Given the description of an element on the screen output the (x, y) to click on. 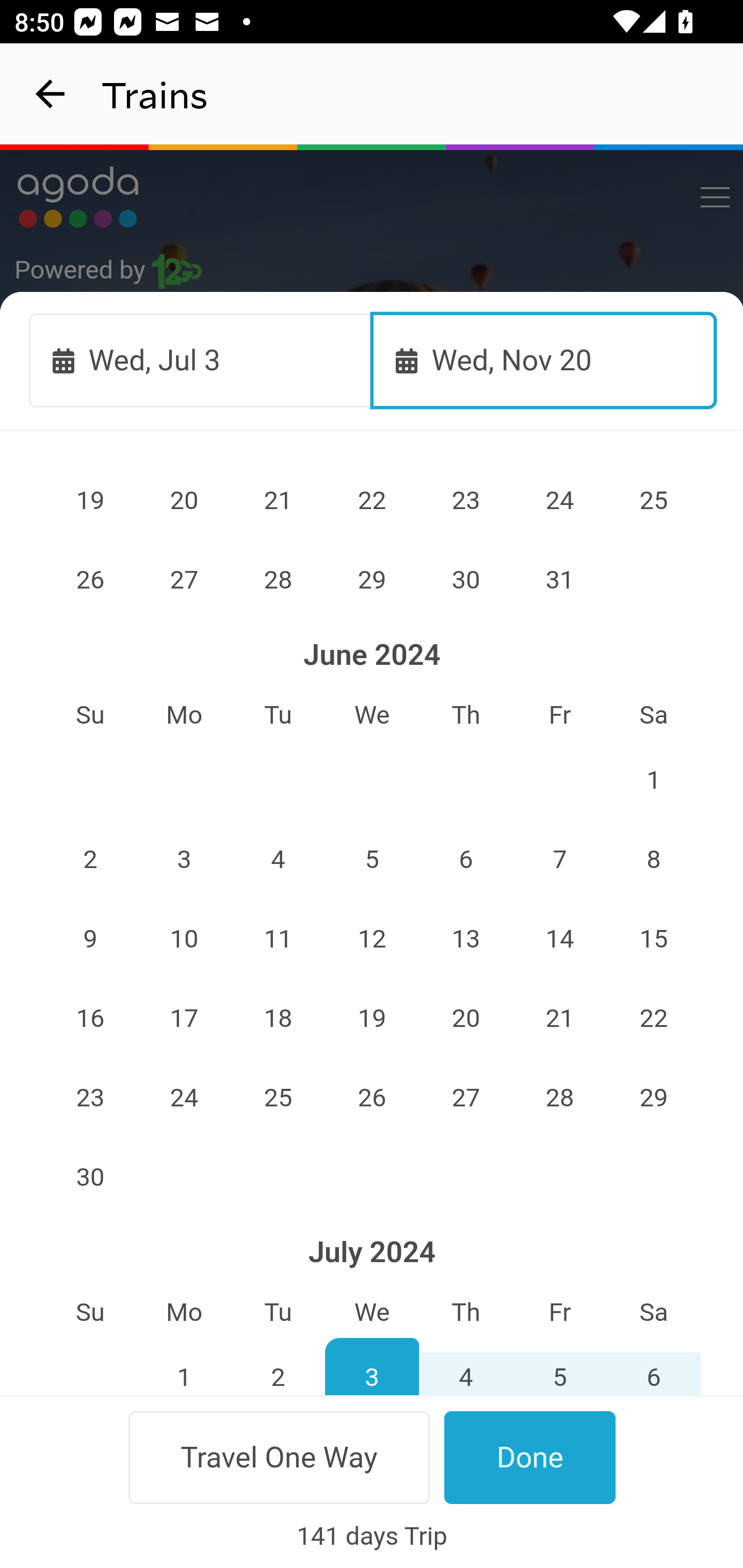
navigation_button (50, 93)
Wed, Jul 3 (200, 359)
Wed, Nov 20 (544, 359)
19 (90, 500)
20 (184, 500)
21 (278, 500)
22 (372, 500)
23 (465, 500)
24 (559, 500)
25 (654, 500)
26 (90, 579)
27 (184, 579)
28 (278, 579)
29 (372, 579)
30 (465, 579)
31 (559, 579)
2 (90, 859)
3 (184, 859)
4 (278, 859)
5 (372, 859)
6 (465, 859)
7 (559, 859)
8 (654, 859)
9 (90, 938)
10 (184, 938)
11 (278, 938)
12 (372, 938)
13 (465, 938)
14 (559, 938)
15 (654, 938)
16 (90, 1017)
17 (184, 1017)
18 (278, 1017)
19 (372, 1017)
20 (465, 1017)
21 (559, 1017)
22 (654, 1017)
23 (90, 1097)
24 (184, 1097)
25 (278, 1097)
26 (372, 1097)
27 (465, 1097)
28 (559, 1097)
29 (654, 1097)
30 (90, 1176)
1 (184, 1365)
2 (278, 1365)
3 (372, 1365)
4 (465, 1365)
5 (559, 1365)
6 (654, 1365)
Travel One Way (278, 1457)
Done (530, 1457)
